Given the description of an element on the screen output the (x, y) to click on. 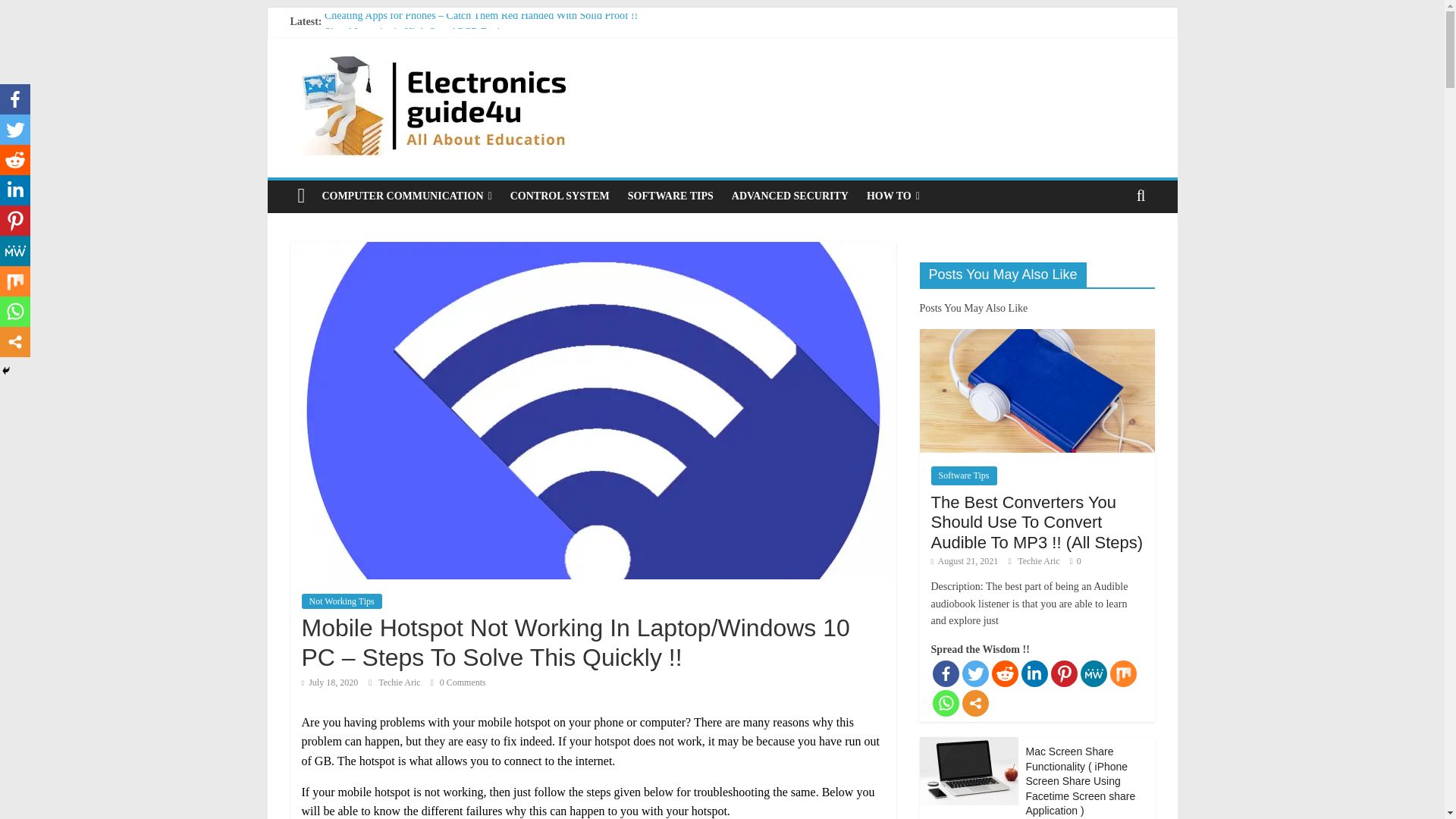
3:32 pm (329, 682)
July 18, 2020 (329, 682)
Not Working Tips (341, 601)
HOW TO (892, 196)
Signal Integrity in High-Speed PCB Design (417, 31)
COMPUTER COMMUNICATION (406, 196)
11 Ways to Become More Efficient With Mac Computers !! (451, 49)
ADVANCED SECURITY (789, 196)
Signal Integrity in High-Speed PCB Design (417, 31)
CONTROL SYSTEM (559, 196)
